Given the description of an element on the screen output the (x, y) to click on. 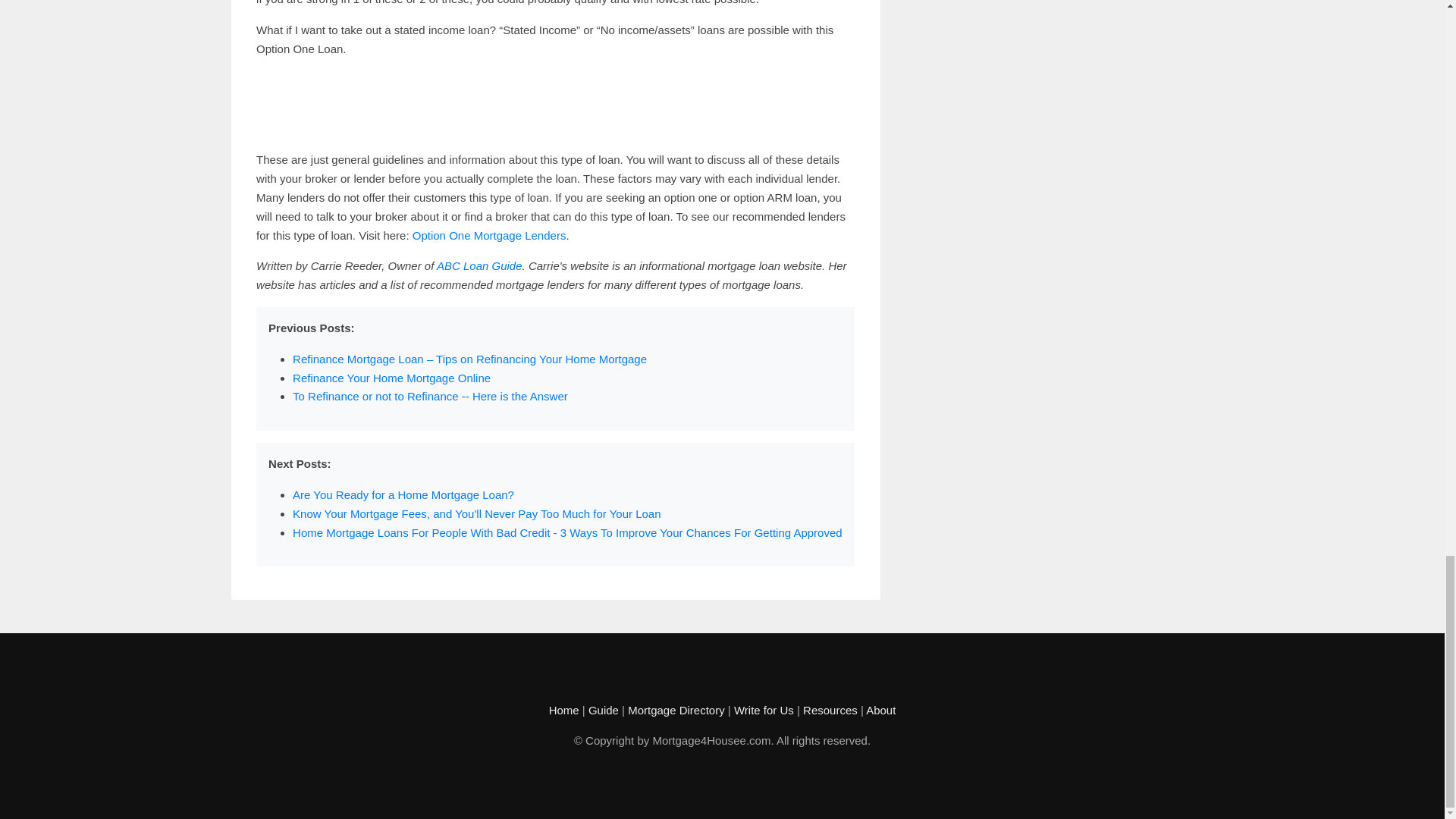
Advertisement (555, 104)
ABC Loan Guide (479, 265)
Guide (603, 709)
Home (563, 709)
About (880, 709)
Are You Ready for a Home Mortgage Loan? (402, 494)
Mortgage Directory (676, 709)
Write for Us (763, 709)
Refinance Your Home Mortgage Online (391, 377)
To Refinance or not to Refinance -- Here is the Answer (429, 395)
Option One Mortgage Lenders (489, 235)
Resources (830, 709)
